Given the description of an element on the screen output the (x, y) to click on. 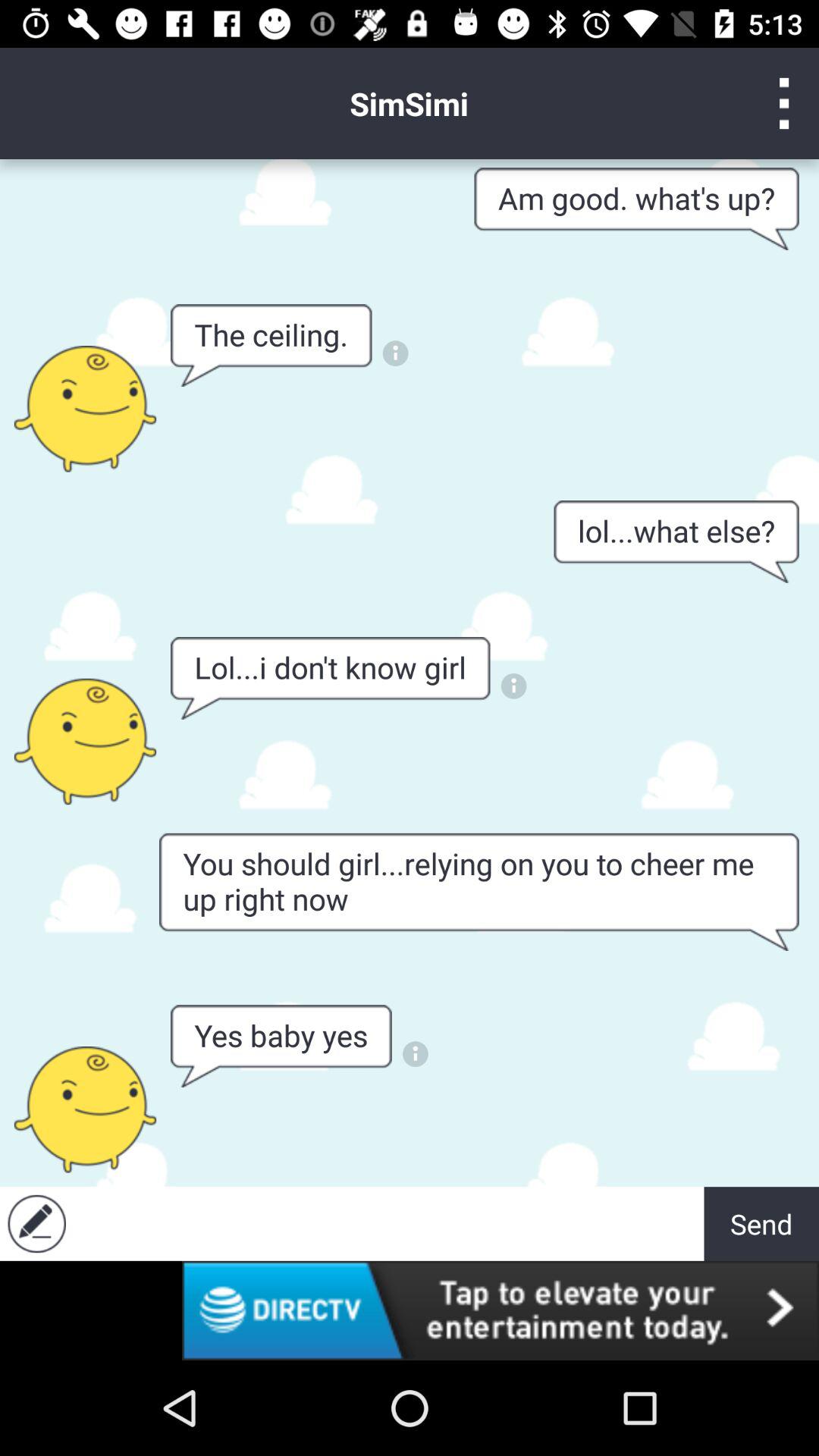
click to edit option (36, 1223)
